Given the description of an element on the screen output the (x, y) to click on. 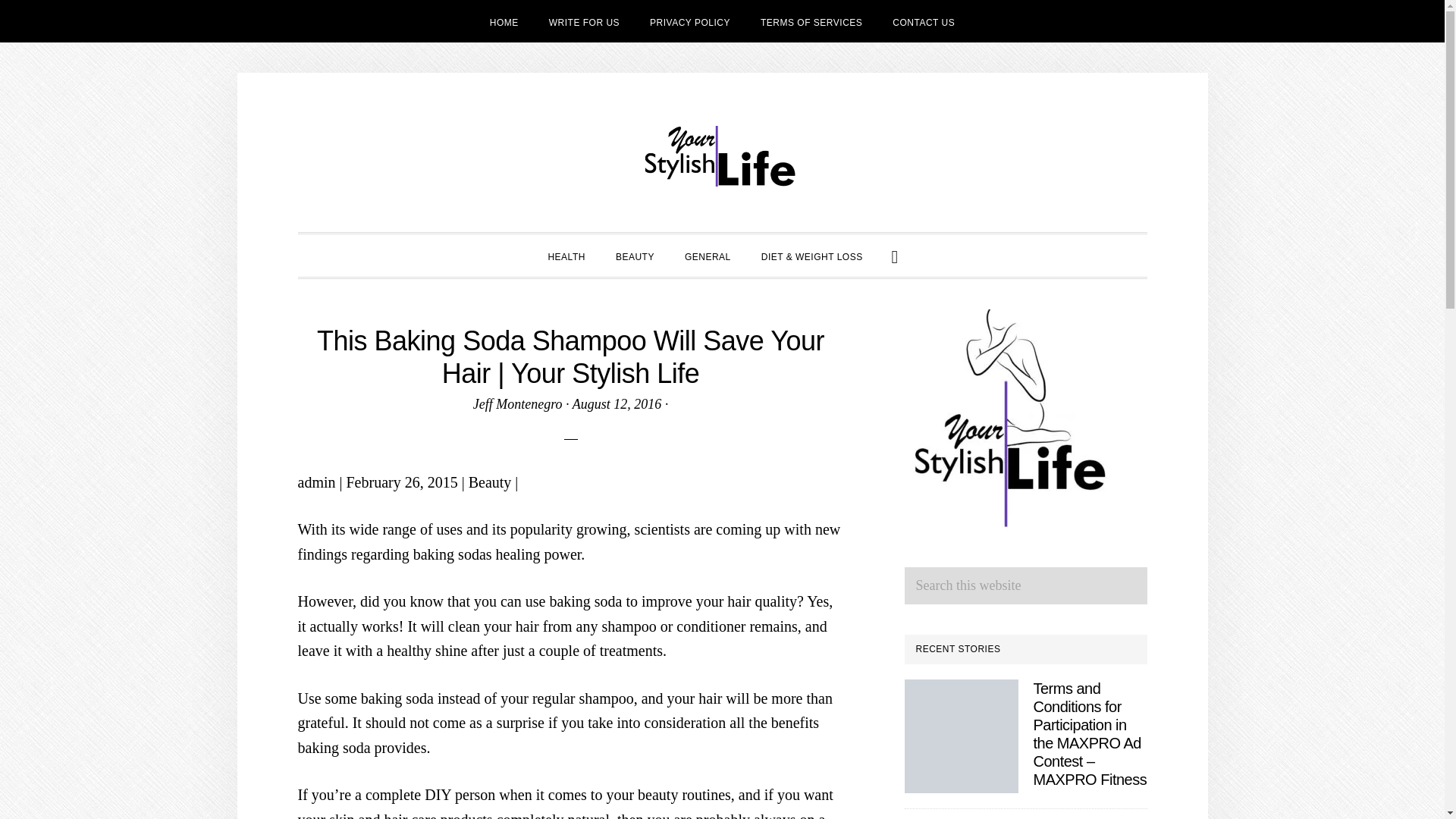
PRIVACY POLICY (689, 21)
Jeff Montenegro (517, 403)
GENERAL (707, 255)
YOUR STYLISH LIFE (721, 156)
WRITE FOR US (584, 21)
BEAUTY (634, 255)
SHOW SEARCH (894, 255)
HEALTH (565, 255)
CONTACT US (923, 21)
TERMS OF SERVICES (811, 21)
HOME (504, 21)
